Given the description of an element on the screen output the (x, y) to click on. 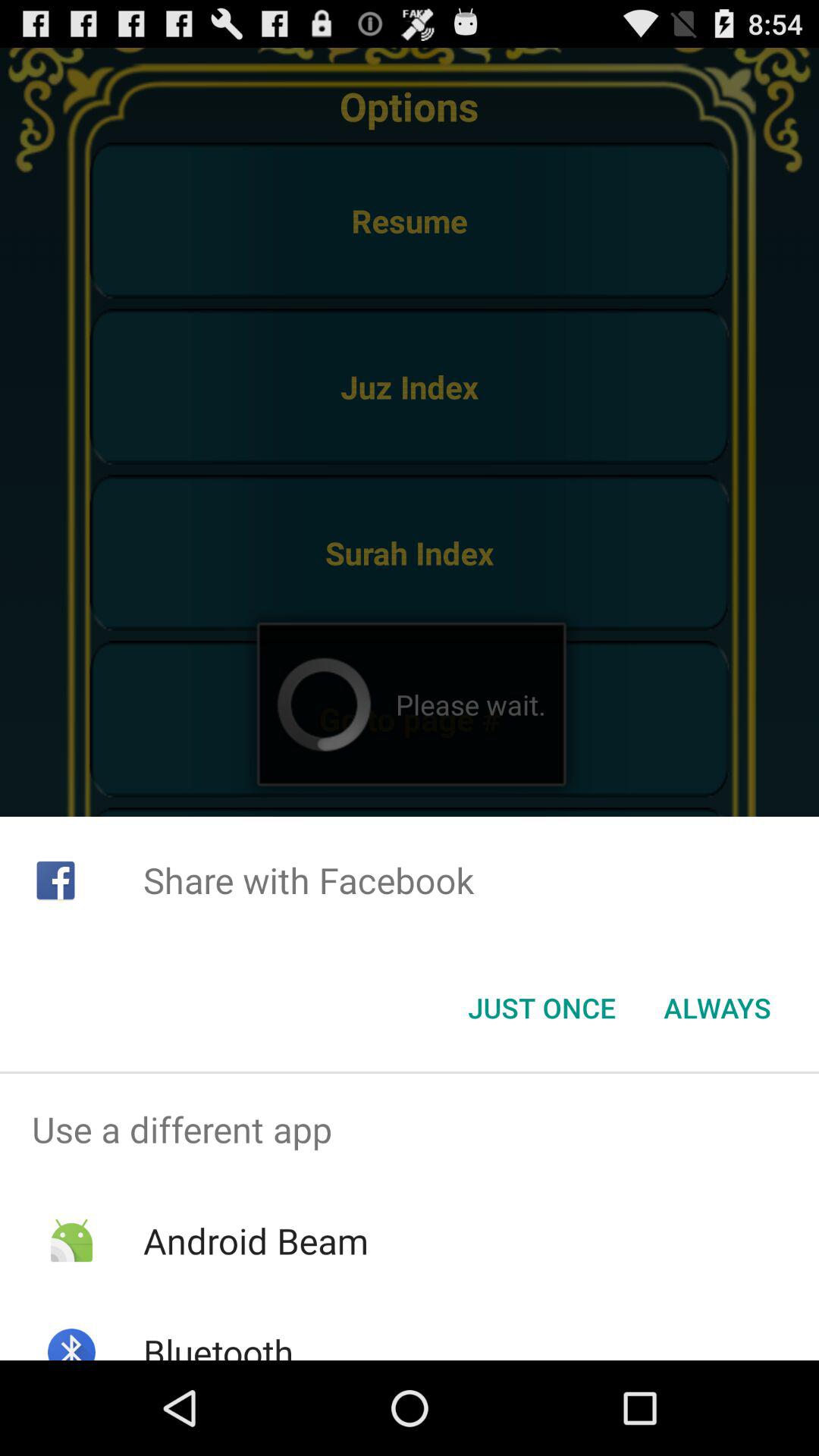
turn on the button to the left of always (541, 1007)
